Given the description of an element on the screen output the (x, y) to click on. 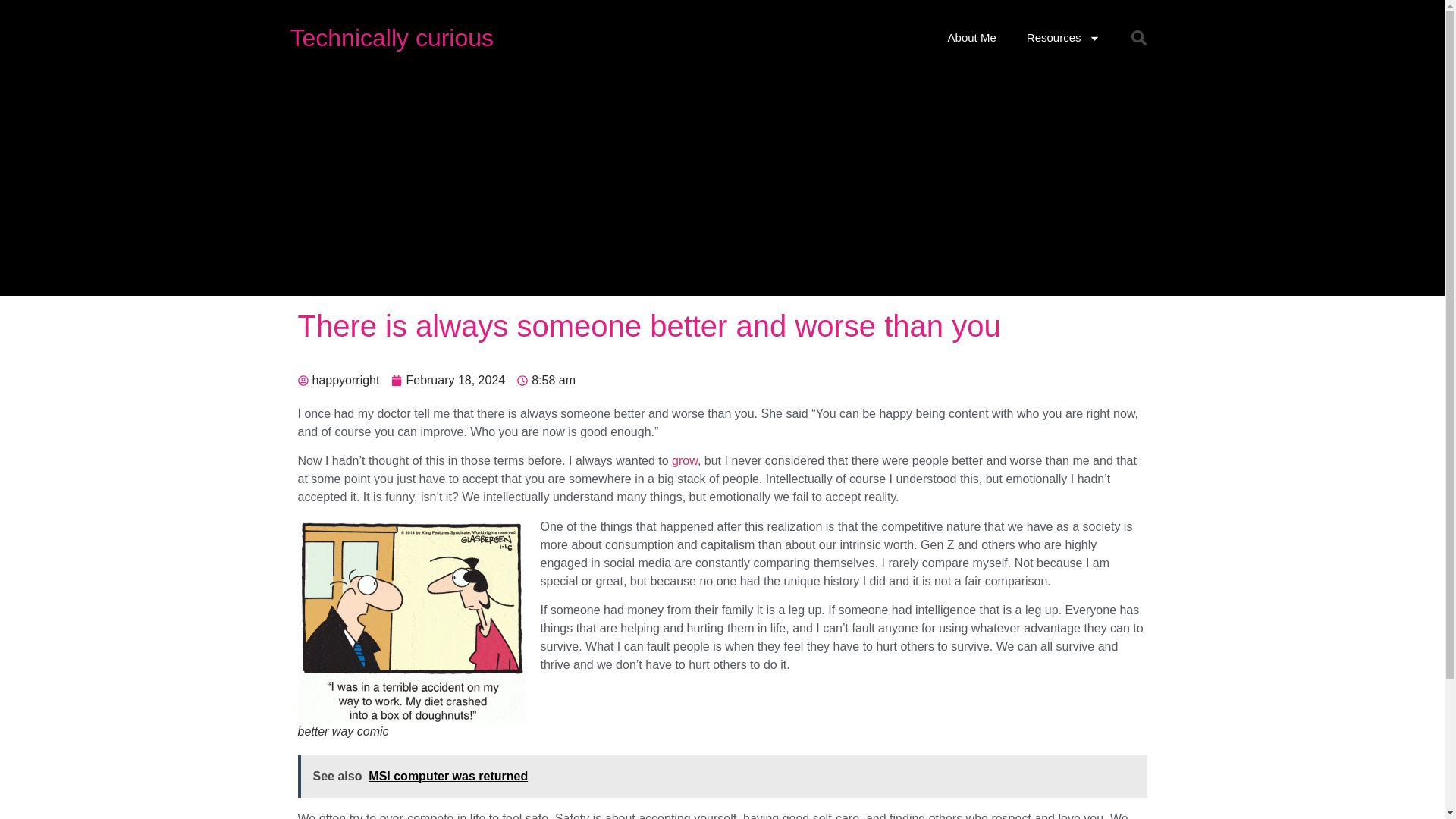
grow (684, 460)
better way comic (410, 622)
About Me (972, 38)
happyorright (337, 380)
See also  MSI computer was returned (722, 776)
February 18, 2024 (448, 380)
Technically curious (391, 37)
Resources (1063, 38)
